Given the description of an element on the screen output the (x, y) to click on. 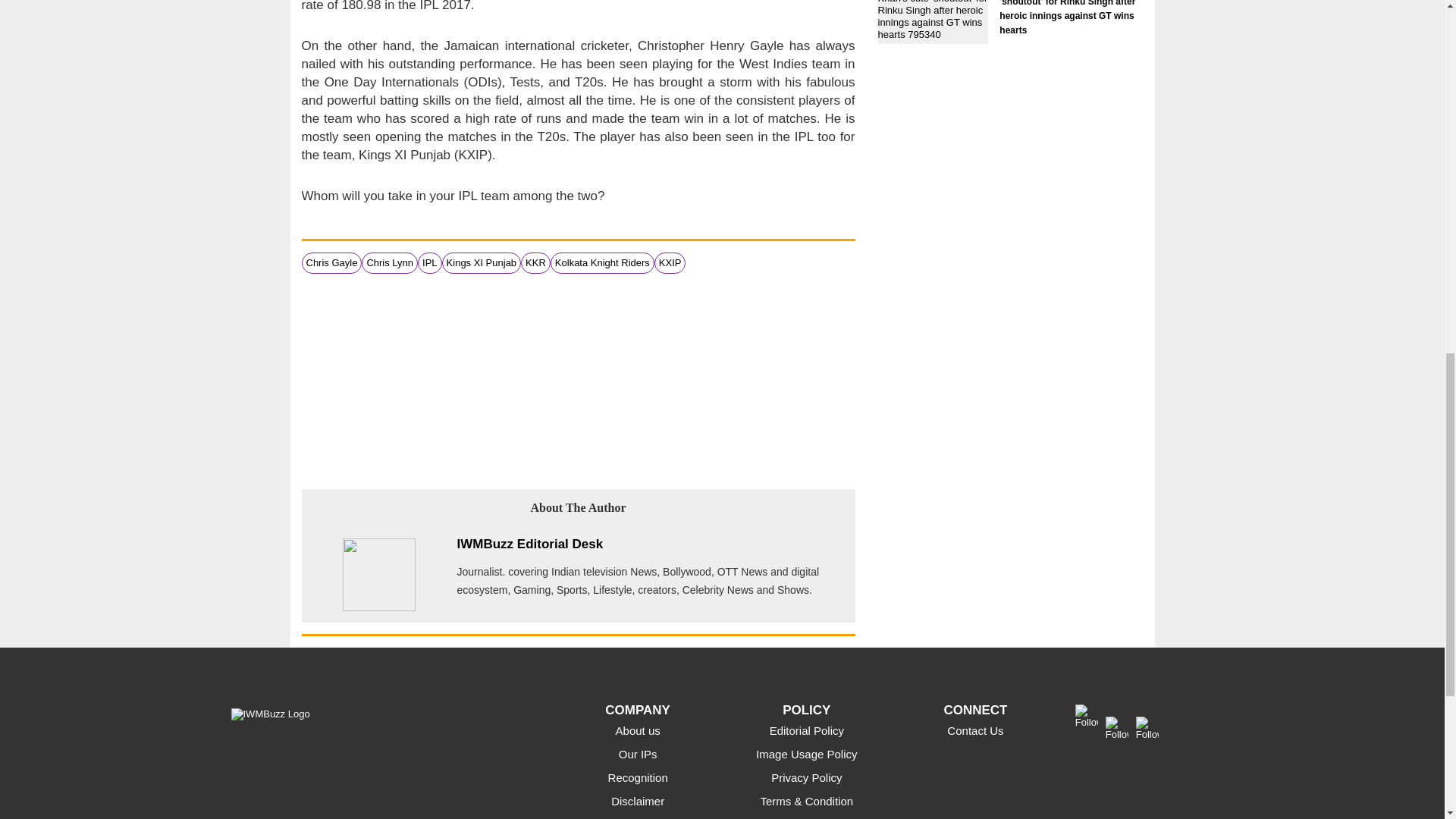
Kings XI Punjab (481, 262)
IPL (430, 262)
Chris Lynn (389, 262)
KKR (535, 262)
3rd party ad content (577, 380)
IWMBuzz Editorial Desk (529, 544)
Chris Gayle (331, 262)
KXIP (670, 262)
Kolkata Knight Riders (601, 262)
